Given the description of an element on the screen output the (x, y) to click on. 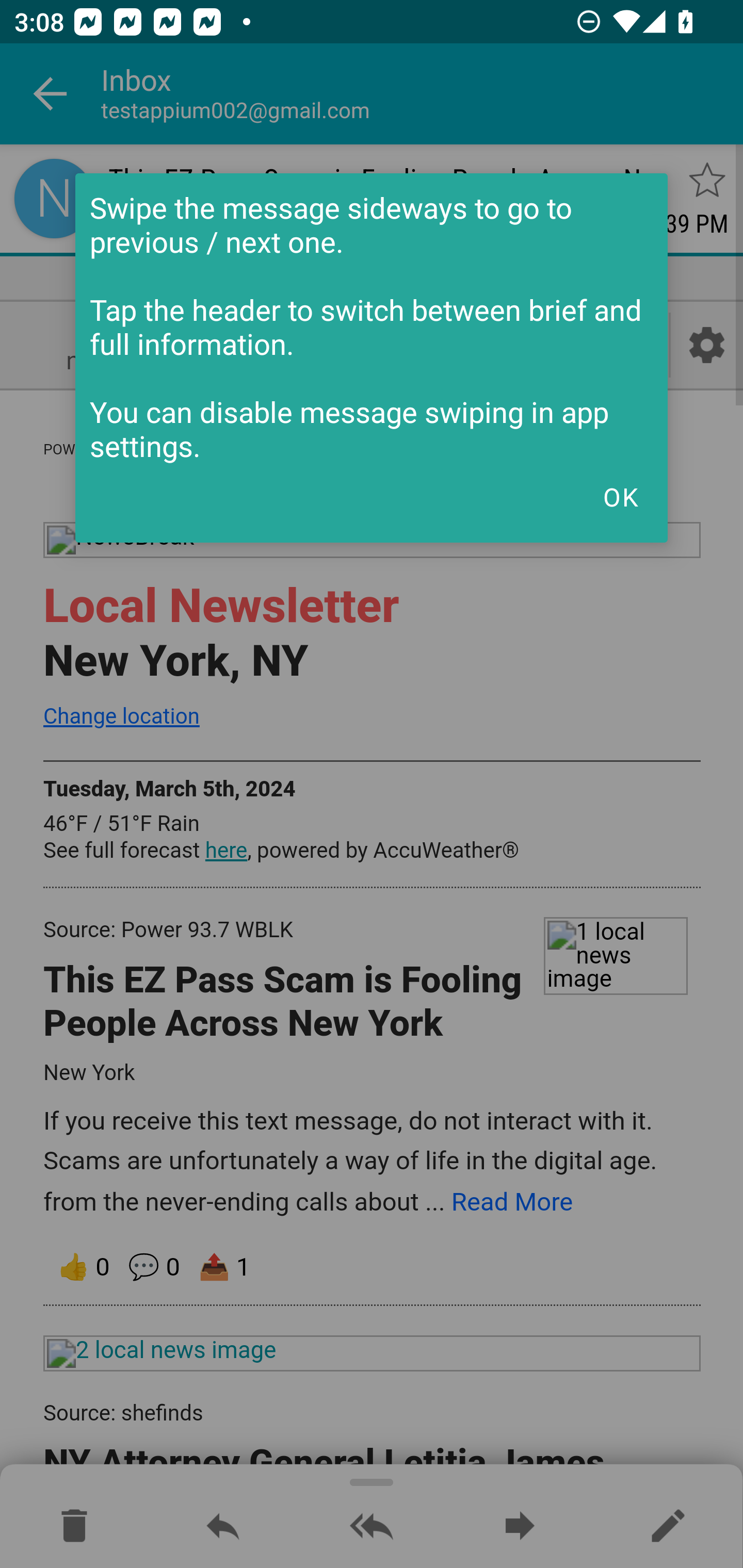
OK (620, 496)
